Given the description of an element on the screen output the (x, y) to click on. 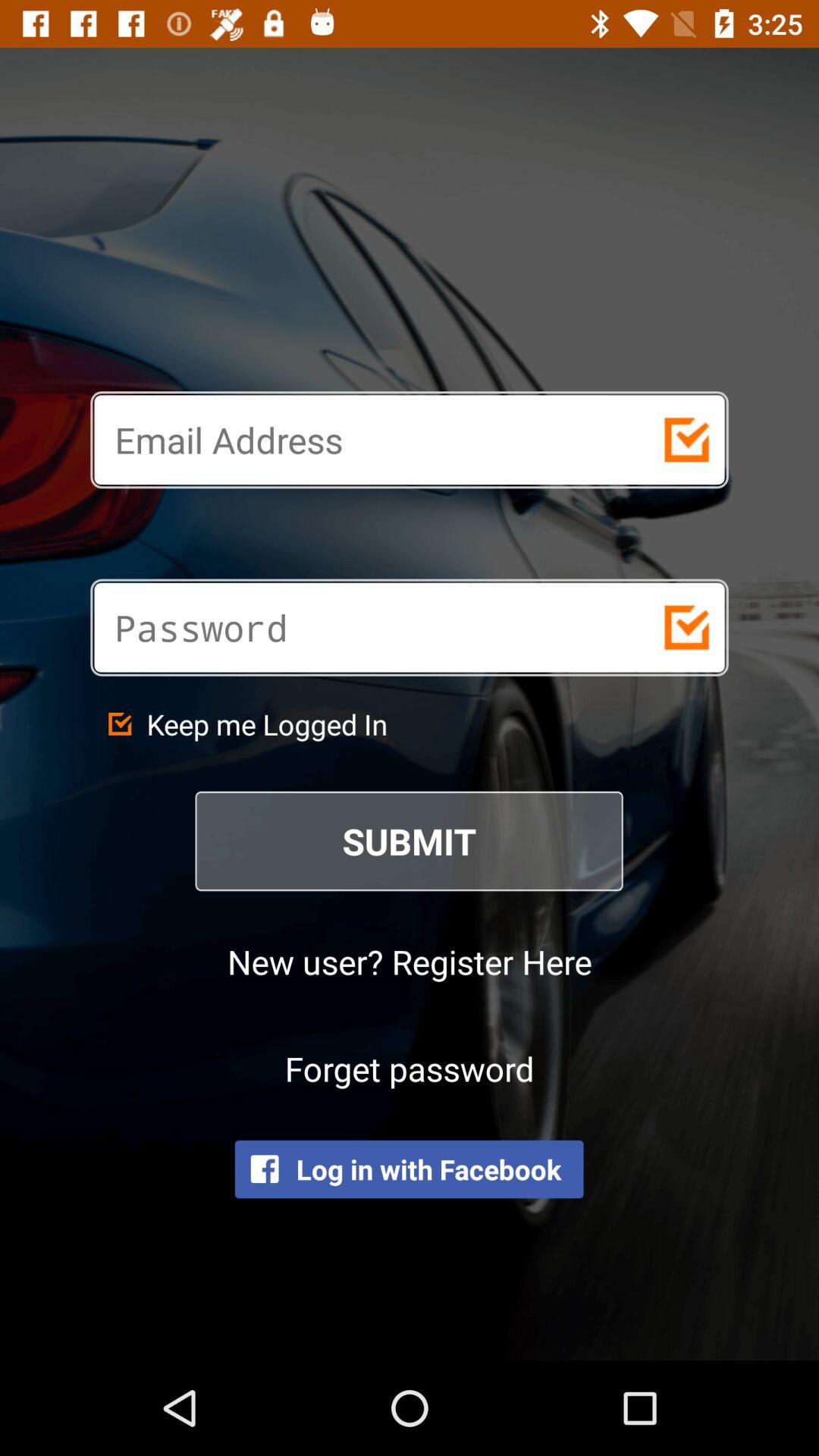
click submit icon (409, 840)
